Given the description of an element on the screen output the (x, y) to click on. 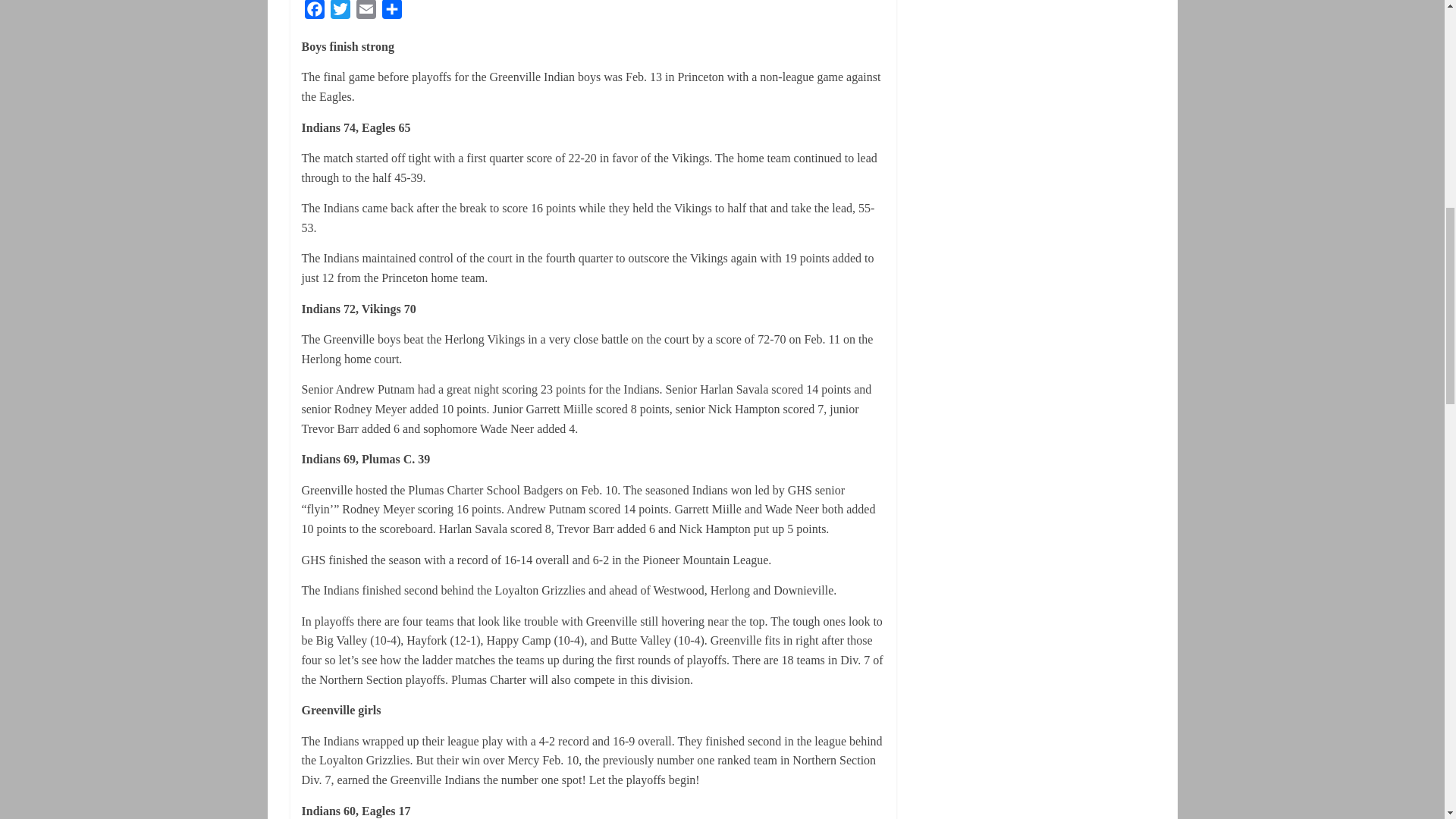
Twitter (340, 12)
Email (365, 12)
Facebook (314, 12)
